Given the description of an element on the screen output the (x, y) to click on. 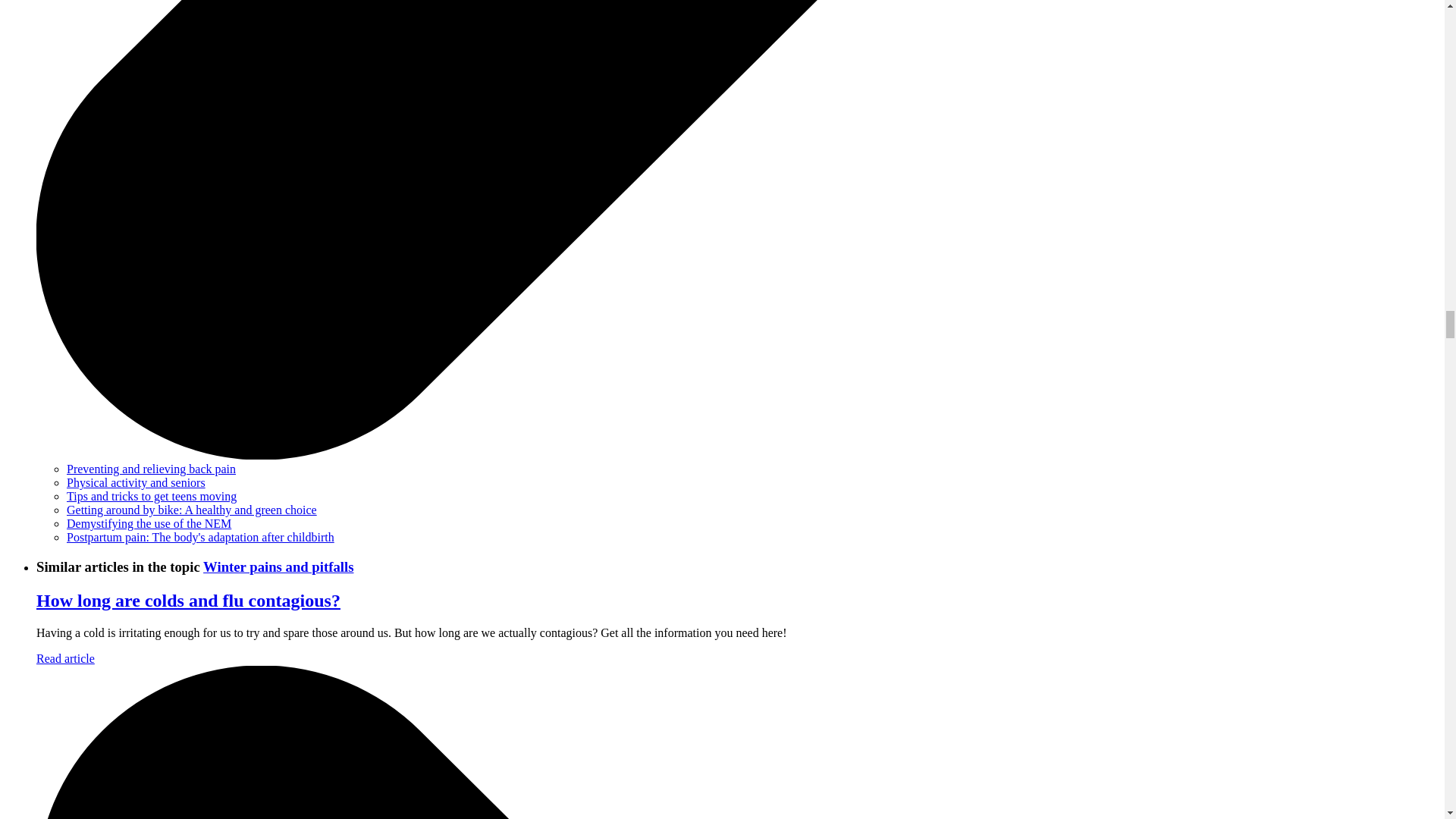
Physical activity and seniors (135, 481)
Preventing and relieving back pain (150, 468)
Postpartum pain: The body's adaptation after childbirth (200, 536)
How long are colds and flu contagious? (188, 600)
Winter pains and pitfalls (278, 566)
Getting around by bike: A healthy and green choice (191, 509)
Demystifying the use of the NEM (148, 522)
Tips and tricks to get teens moving (150, 495)
